Given the description of an element on the screen output the (x, y) to click on. 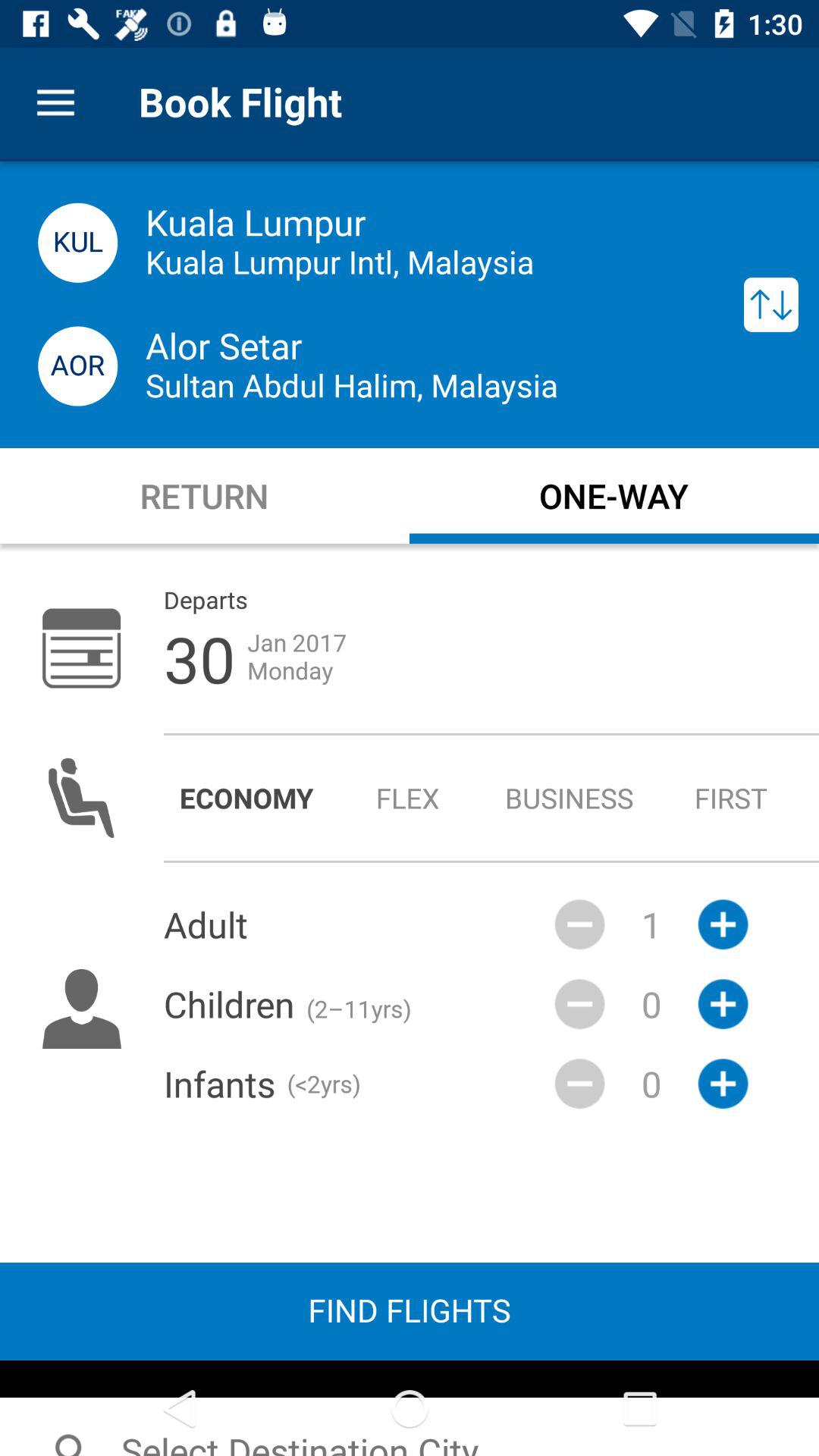
turn on the business radio button (569, 797)
